Given the description of an element on the screen output the (x, y) to click on. 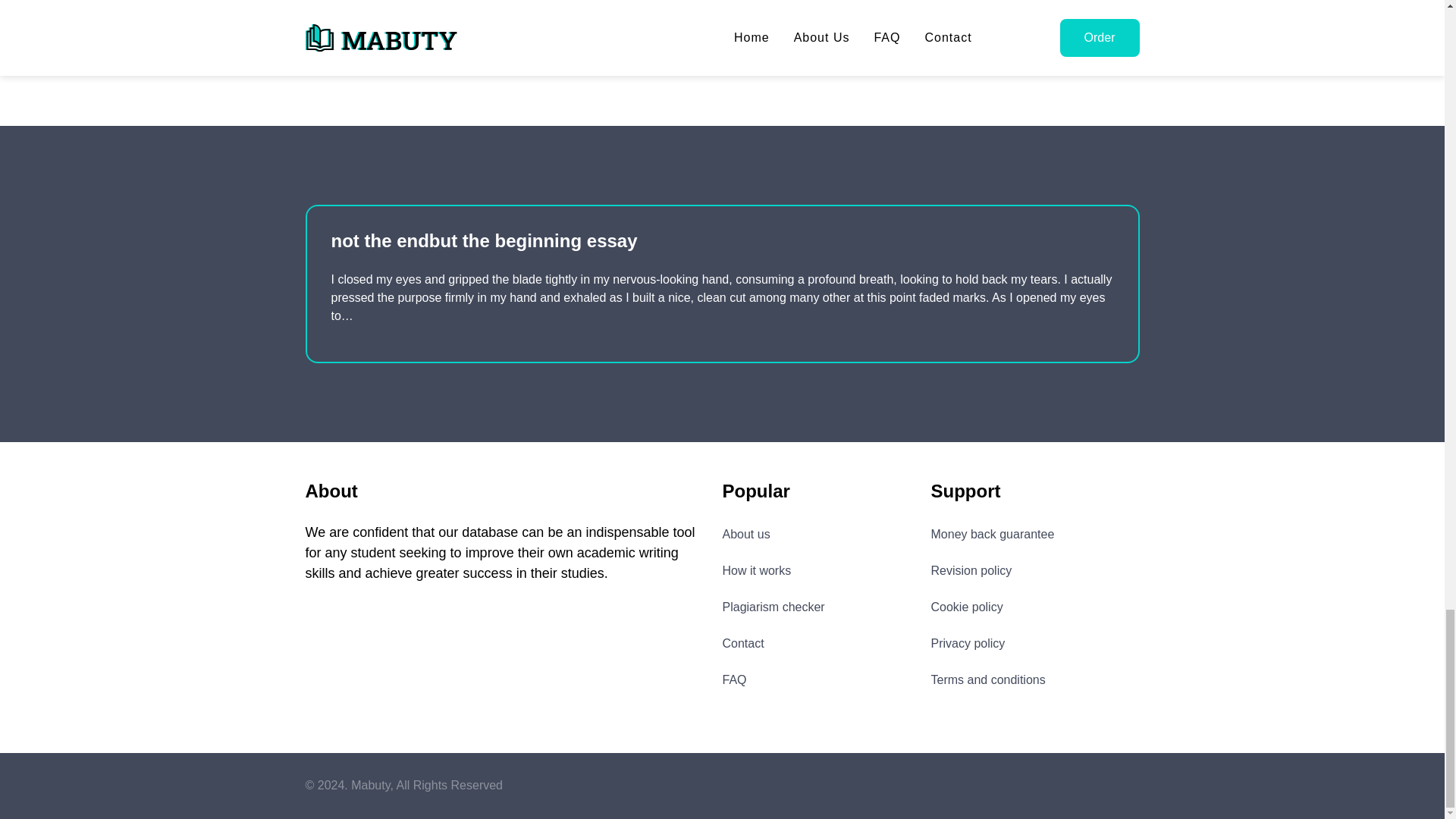
Money back guarantee (992, 533)
Terms and conditions (988, 679)
engineering (344, 35)
Contact (742, 642)
Cookie policy (967, 606)
Plagiarism checker (773, 606)
essay (417, 35)
About us (746, 533)
Privacy policy (968, 642)
FAQ (733, 679)
